Given the description of an element on the screen output the (x, y) to click on. 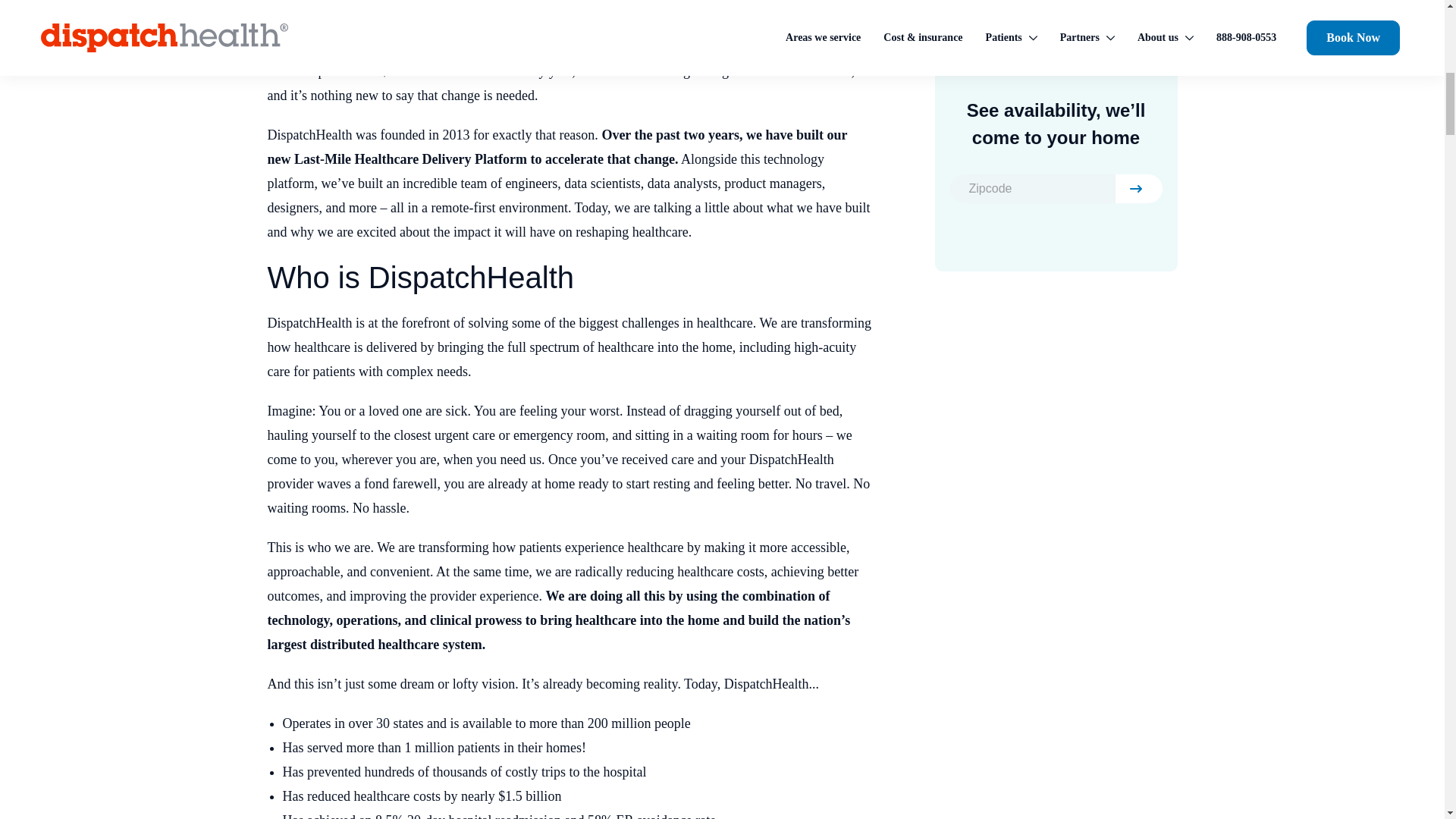
Enter (1138, 188)
